Given the description of an element on the screen output the (x, y) to click on. 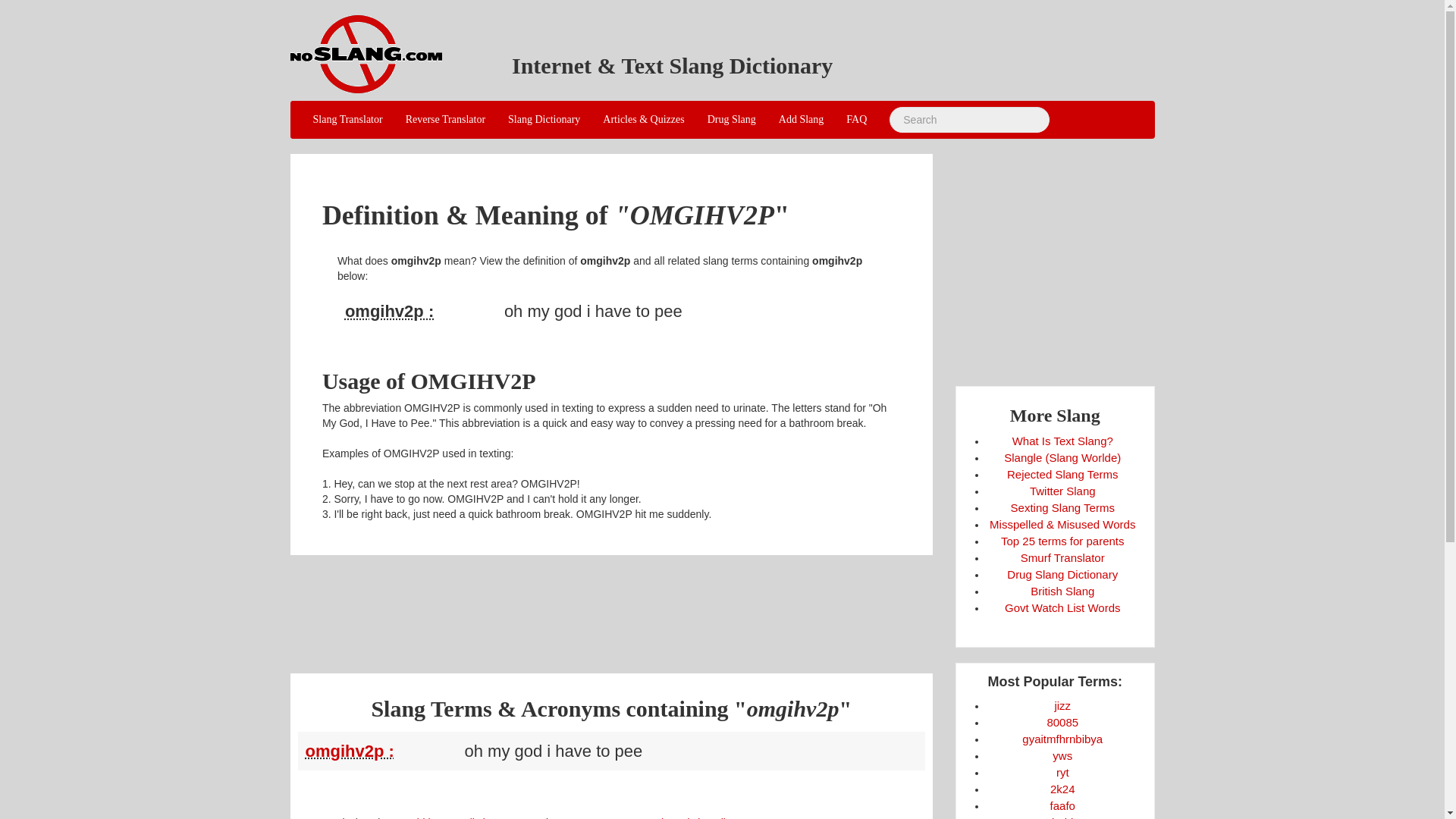
right (1062, 771)
Rejected Slang Terms (1062, 473)
babi (1062, 817)
2k24 (1062, 788)
oh my god i have to pee (380, 750)
Smurf Translator (1062, 557)
rejected slang list (692, 817)
gyaitmfhrnbibya (1062, 738)
FAQ (855, 119)
ryt (1062, 771)
